Given the description of an element on the screen output the (x, y) to click on. 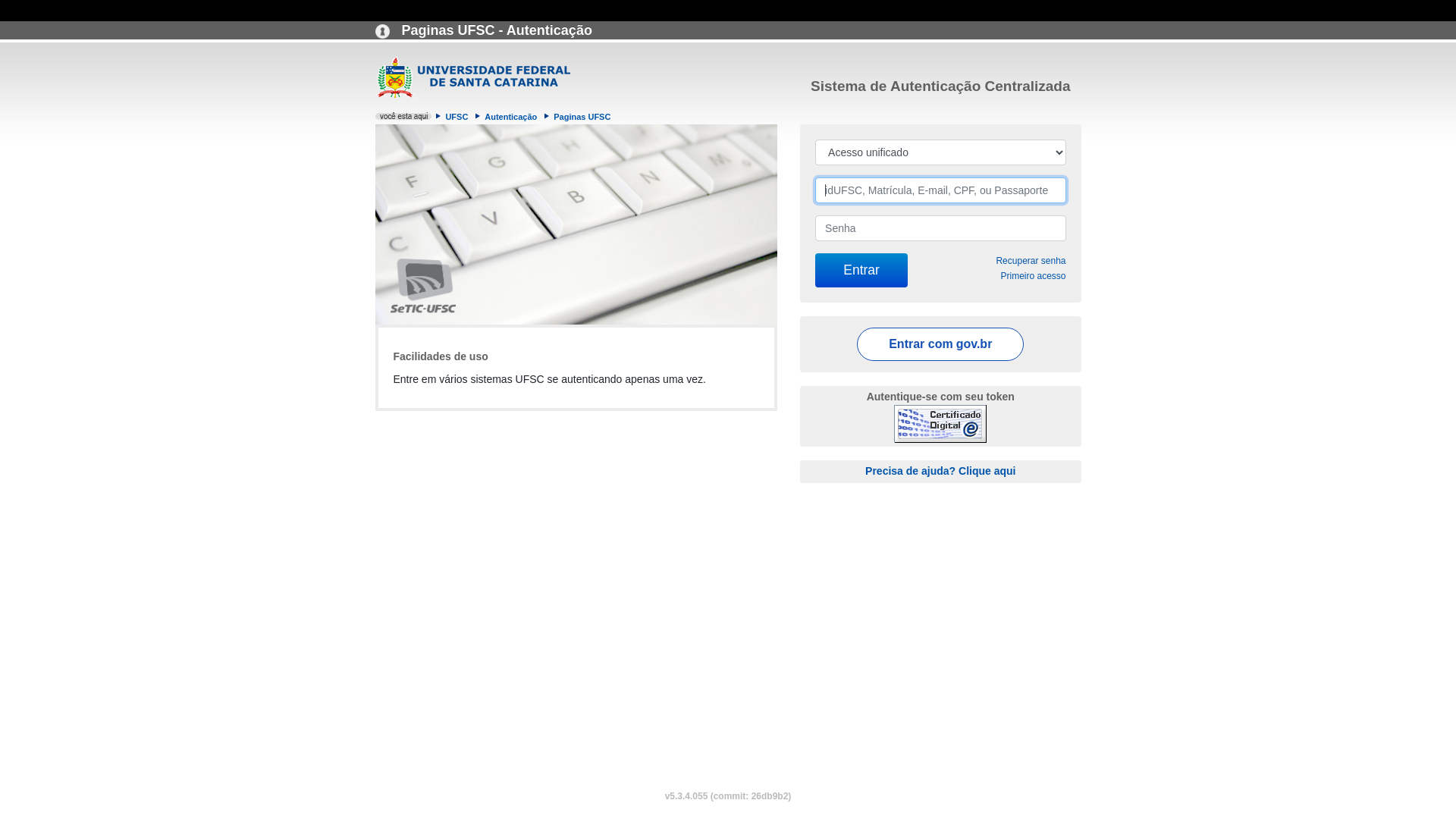
Precisa de ajuda? Clique aqui Element type: text (940, 470)
Entrar Element type: text (861, 270)
Primeiro acesso Element type: text (1032, 275)
Recuperar senha Element type: text (1030, 260)
UFSC Element type: text (456, 116)
Entrar com
gov.br Element type: text (939, 343)
Paginas UFSC Element type: text (581, 116)
